Given the description of an element on the screen output the (x, y) to click on. 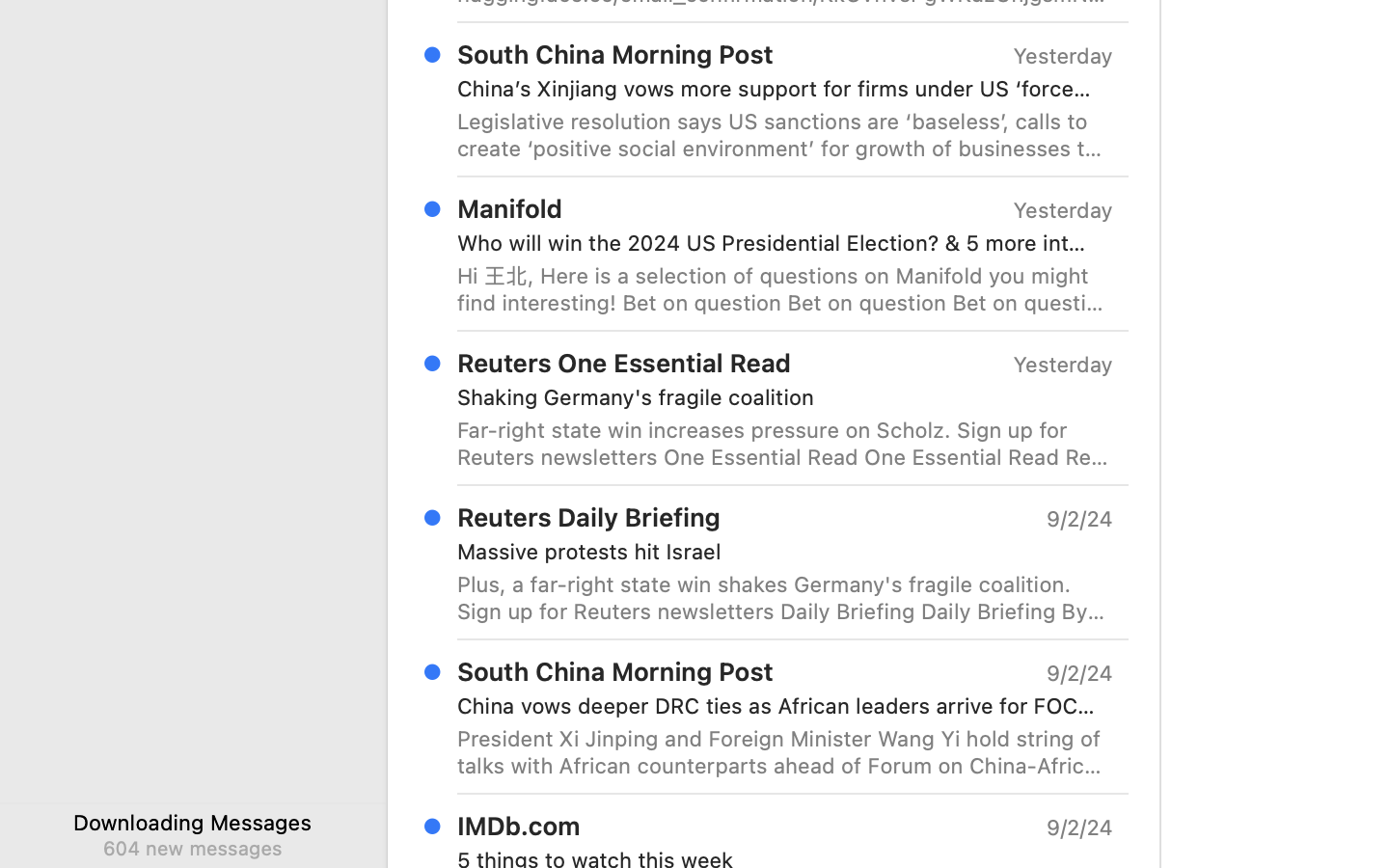
Far-right state win increases pressure on Scholz. Sign up for Reuters newsletters One Essential Read One Essential Read Recommended by Edson Caldas, Newsletter Editor Pressure mounts on Scholz Right-wing Alternative for Germany top candidate Bjoern Hoecke on the day of the Thuringia state election. REUTERS/Wolfgang Rattay The Alternative for Germany is on track to become the first far-right party to win a regional election in Germany since World War Two, dealing a blow to parties in Chancellor Olaf Scholz's government. The results are likely to aggravate instability in an already fractious ruling coalition, Chief Correspondent Sarah Marsh reports. The German government's faltering authority could also complicate European policy when the bloc's other major power France is still struggling to form a government. Read the full article Sponsors are not involved in the creation of newsletters or other Reuters news content. Advertise in this newsletter or on Reuters.com Reuters One Essential R Element type: AXStaticText (784, 443)
9/2/24 Element type: AXStaticText (1078, 826)
604 new messages Element type: AXStaticText (191, 847)
Who will win the 2024 US Presidential Election? & 5 more interesting markets on Manifold Element type: AXStaticText (777, 242)
IMDb.com Element type: AXStaticText (518, 825)
